Given the description of an element on the screen output the (x, y) to click on. 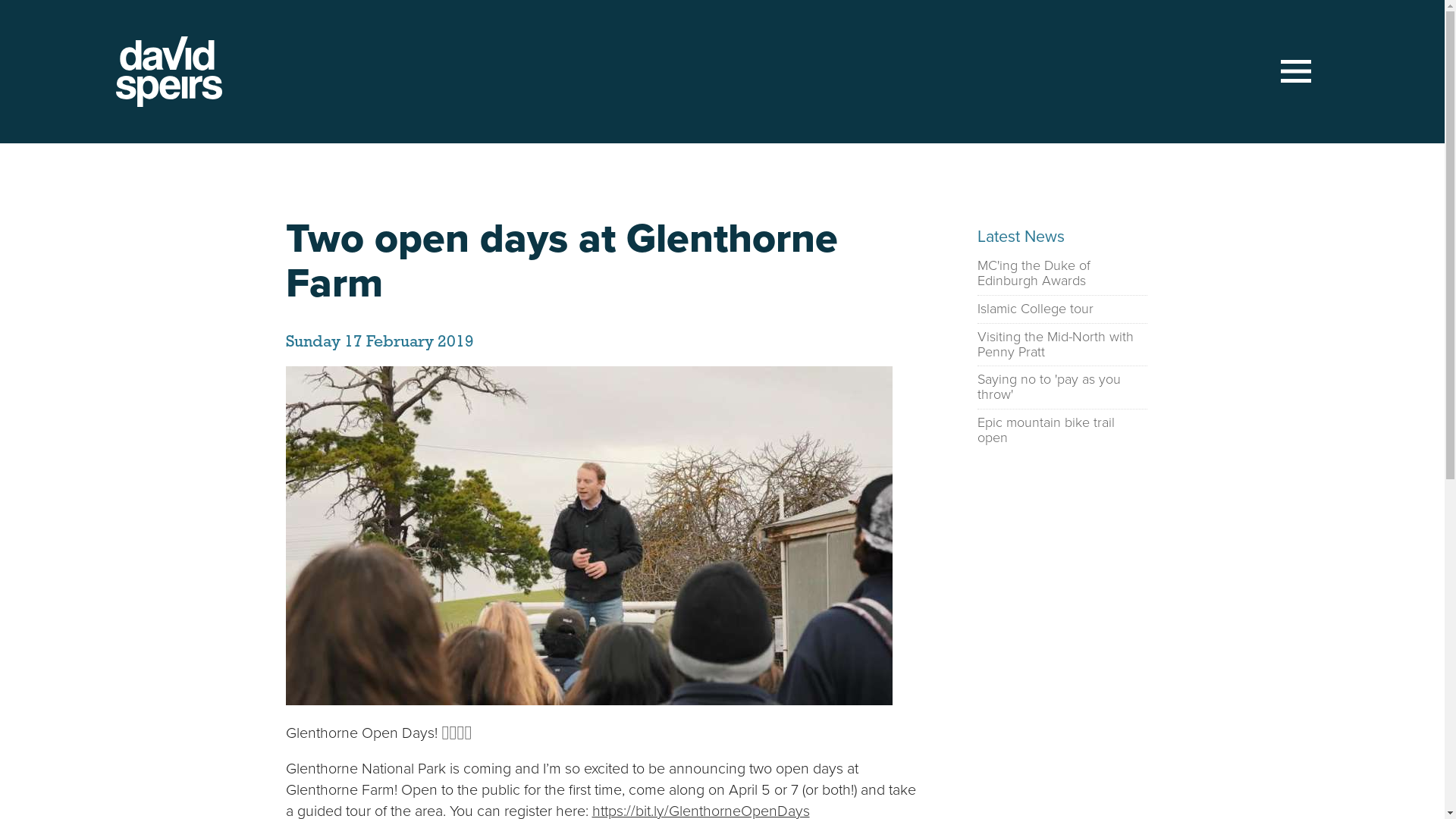
Saying no to 'pay as you throw' Element type: text (1061, 387)
MC'ing the Duke of Edinburgh Awards Element type: text (1061, 273)
Latest News Element type: text (1019, 236)
Epic mountain bike trail open Element type: text (1061, 430)
Islamic College tour Element type: text (1034, 309)
Visiting the Mid-North with Penny Pratt Element type: text (1061, 344)
